Given the description of an element on the screen output the (x, y) to click on. 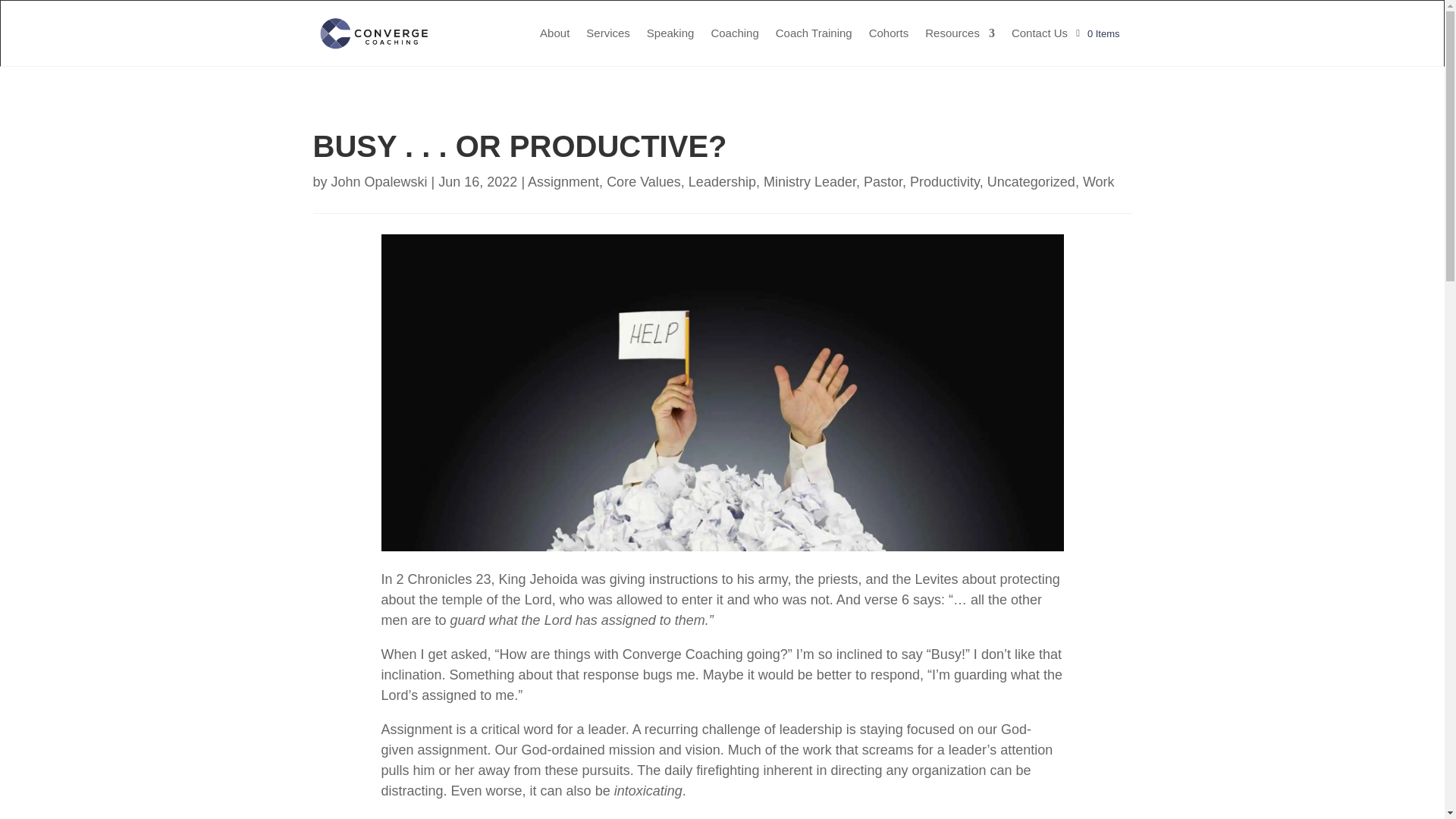
Contact Us (1039, 33)
Ministry Leader (809, 181)
Assignment (562, 181)
Uncategorized (1031, 181)
John Opalewski (379, 181)
Leadership (721, 181)
Pastor (882, 181)
Coach Training (813, 33)
Work (1099, 181)
Resources (959, 33)
